Given the description of an element on the screen output the (x, y) to click on. 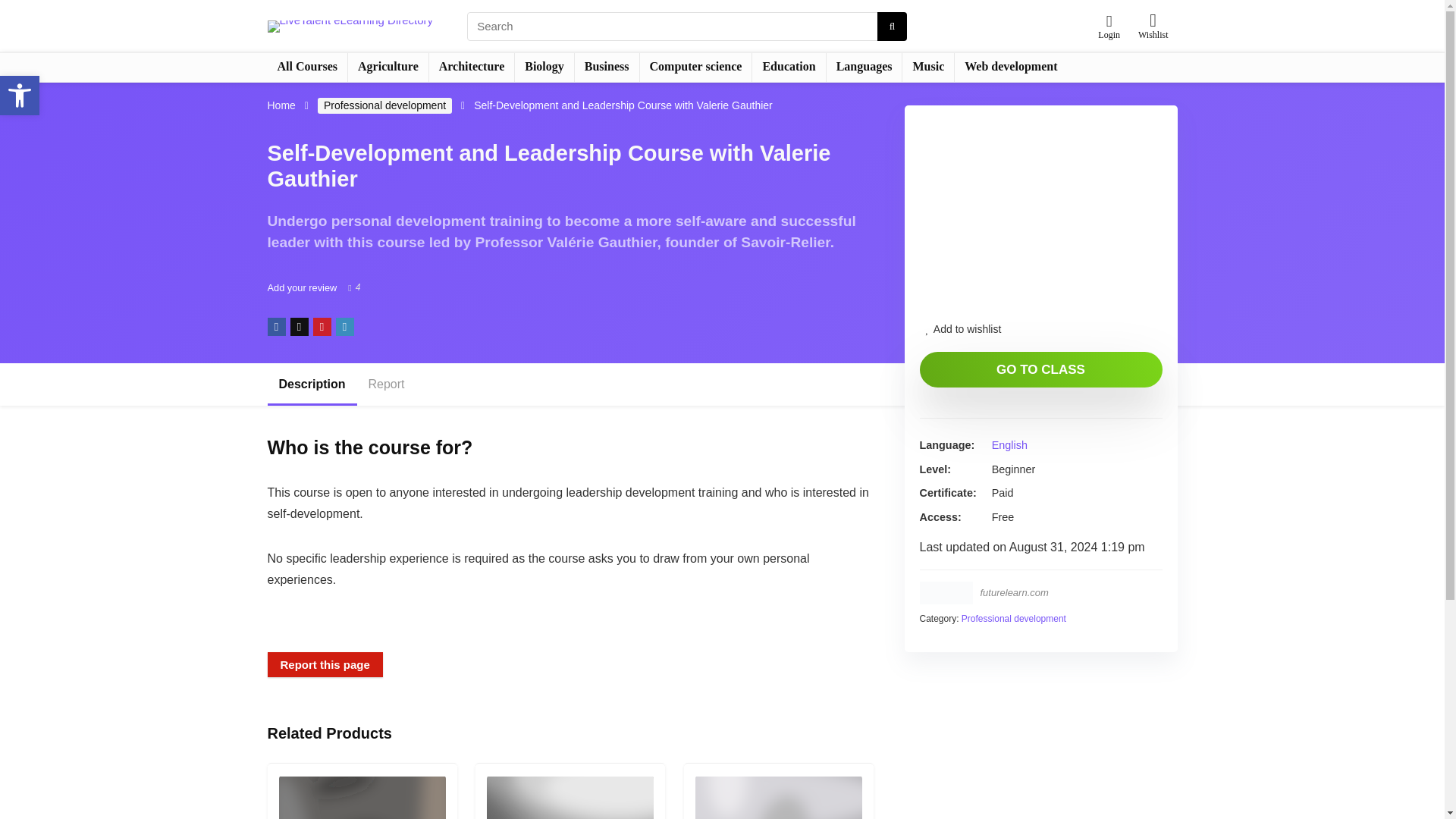
Professional development (1012, 618)
Description Report (569, 384)
Accessibility Tools (19, 95)
futurelearn.com (1013, 592)
Professional development (384, 105)
Agriculture (387, 67)
Business (607, 67)
Report (386, 384)
Languages (864, 67)
English (1009, 444)
